Given the description of an element on the screen output the (x, y) to click on. 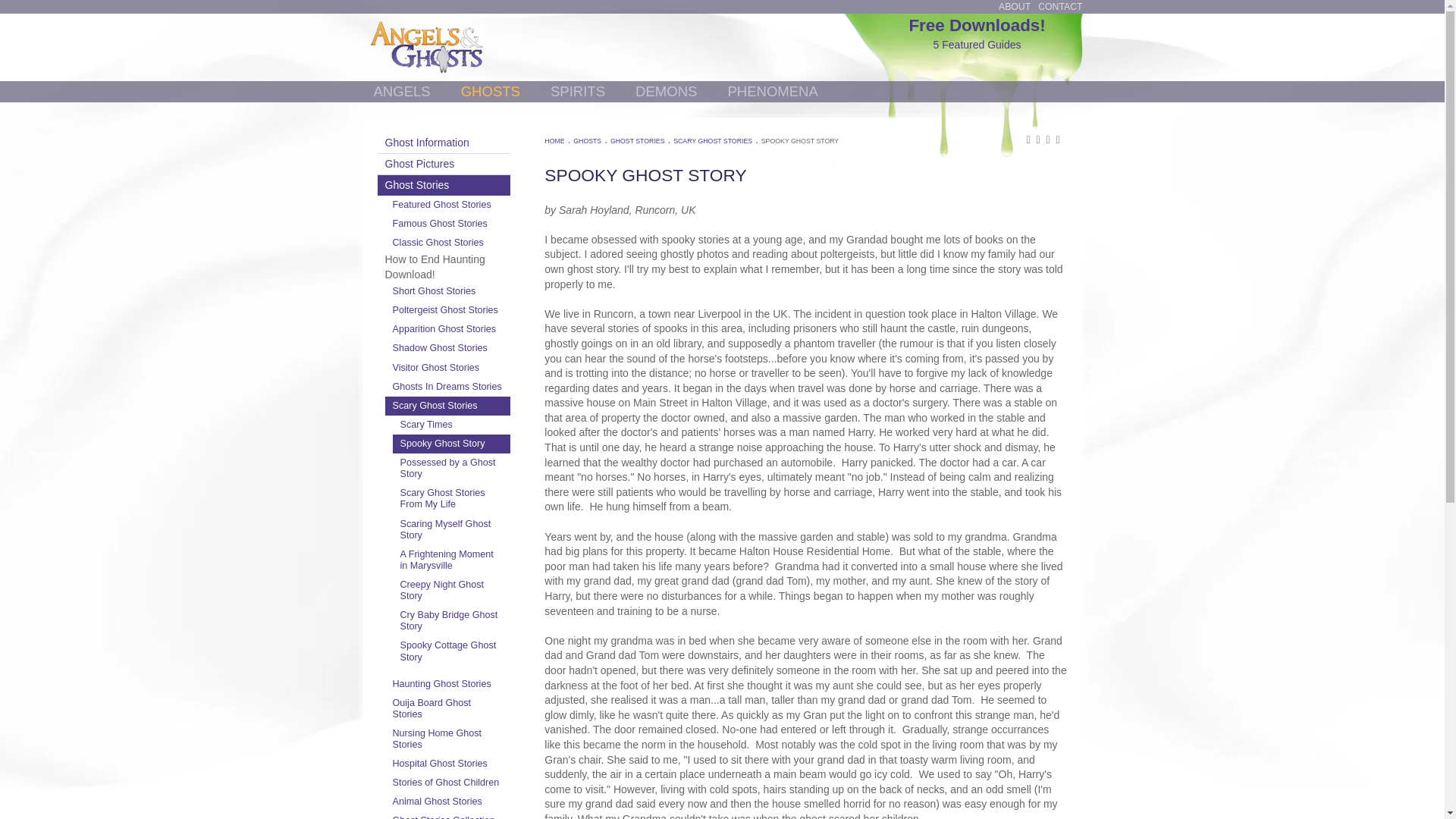
Spooky Ghost Story (452, 443)
Scaring Myself Ghost Story (452, 530)
Scary Times (452, 424)
Ghost Pictures (444, 163)
Ghost Information (444, 142)
Apparition Ghost Stories (448, 329)
Famous Ghost Stories (976, 32)
Scary Ghost Stories From My Life (448, 223)
CONTACT (452, 499)
